Given the description of an element on the screen output the (x, y) to click on. 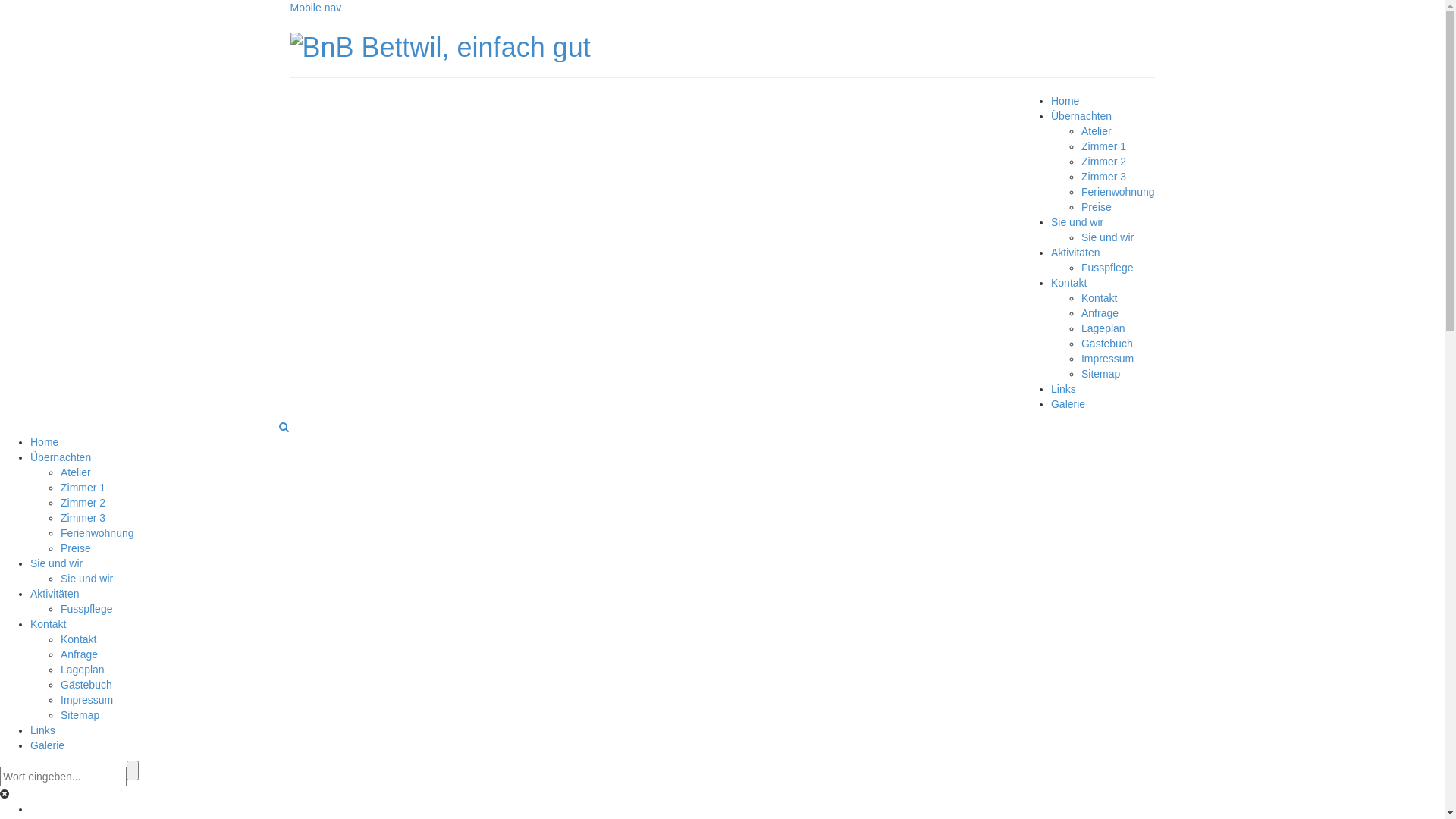
Home Element type: text (1065, 100)
Zimmer 2 Element type: text (82, 502)
Zimmer 2 Element type: text (1103, 161)
Galerie Element type: text (47, 745)
Sie und wir Element type: text (86, 578)
Atelier Element type: text (75, 472)
Links Element type: text (42, 730)
Sitemap Element type: text (79, 715)
Preise Element type: text (1096, 206)
Kontakt Element type: text (1099, 297)
Zimmer 3 Element type: text (1103, 176)
Zimmer 3 Element type: text (82, 517)
Kontakt Element type: text (78, 639)
Preise Element type: text (75, 548)
Kontakt Element type: text (47, 624)
Home Element type: text (44, 442)
Lageplan Element type: text (1103, 328)
Zimmer 1 Element type: text (82, 487)
Fusspflege Element type: text (1106, 267)
Impressum Element type: text (1107, 358)
Sie und wir Element type: text (1107, 237)
Sie und wir Element type: text (56, 563)
Links Element type: text (1063, 388)
Sie und wir Element type: text (1077, 222)
Lageplan Element type: text (82, 669)
Anfrage Element type: text (1099, 313)
Fusspflege Element type: text (86, 608)
Ferienwohnung Element type: text (97, 533)
Atelier Element type: text (1096, 131)
BnB Bettwil, einfach gut Element type: hover (439, 44)
Galerie Element type: text (1068, 404)
Mobile nav Element type: text (315, 7)
Anfrage Element type: text (78, 654)
Sitemap Element type: text (1100, 373)
Impressum Element type: text (86, 699)
Kontakt Element type: text (1068, 282)
Zimmer 1 Element type: text (1103, 146)
Ferienwohnung Element type: text (1117, 191)
